Given the description of an element on the screen output the (x, y) to click on. 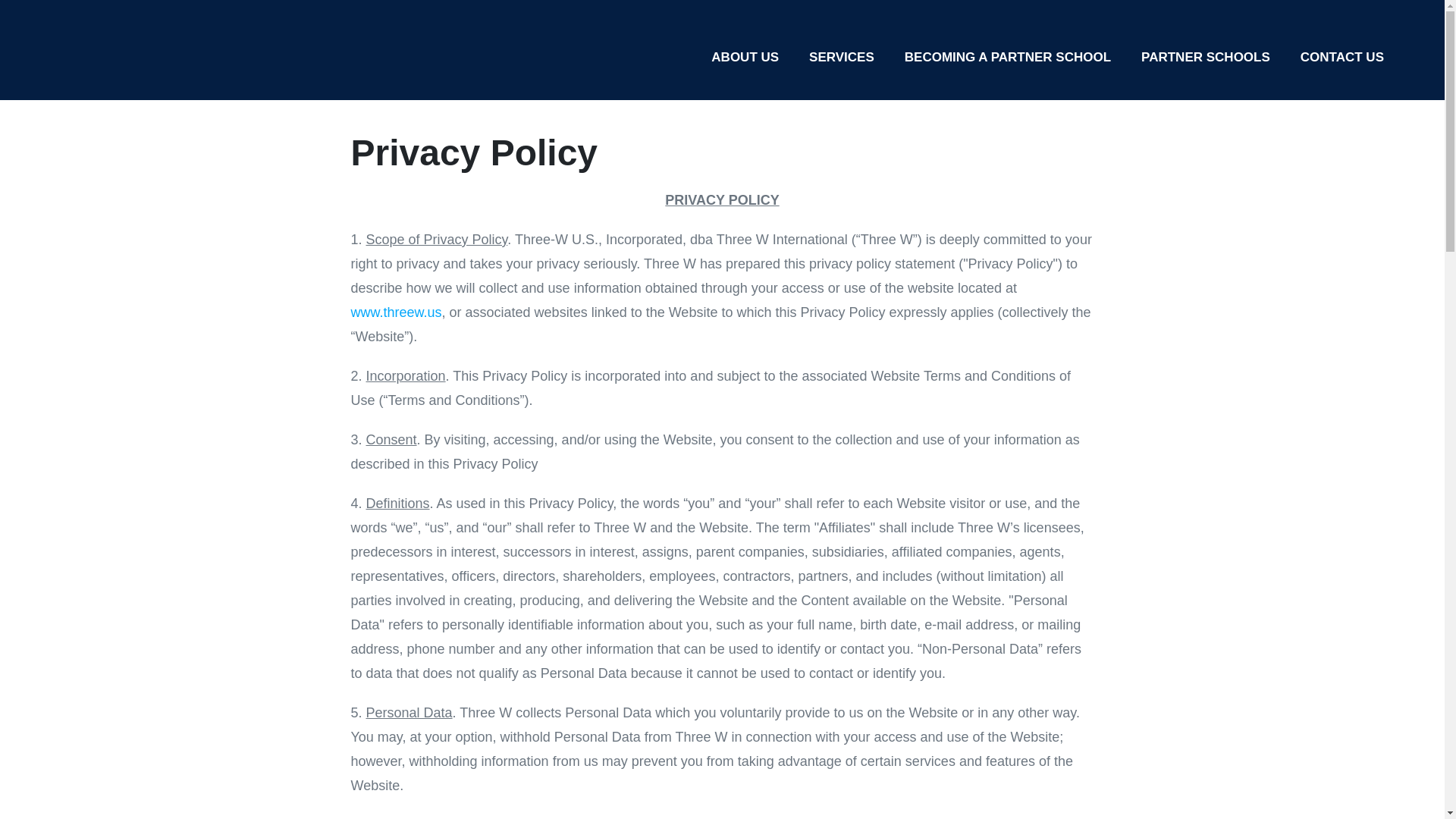
www.threew.us (395, 312)
ABOUT US (744, 57)
BECOMING A PARTNER SCHOOL (1007, 57)
PARTNER SCHOOLS (1205, 57)
CONTACT US (1342, 57)
Three W International (136, 57)
SERVICES (842, 57)
